Given the description of an element on the screen output the (x, y) to click on. 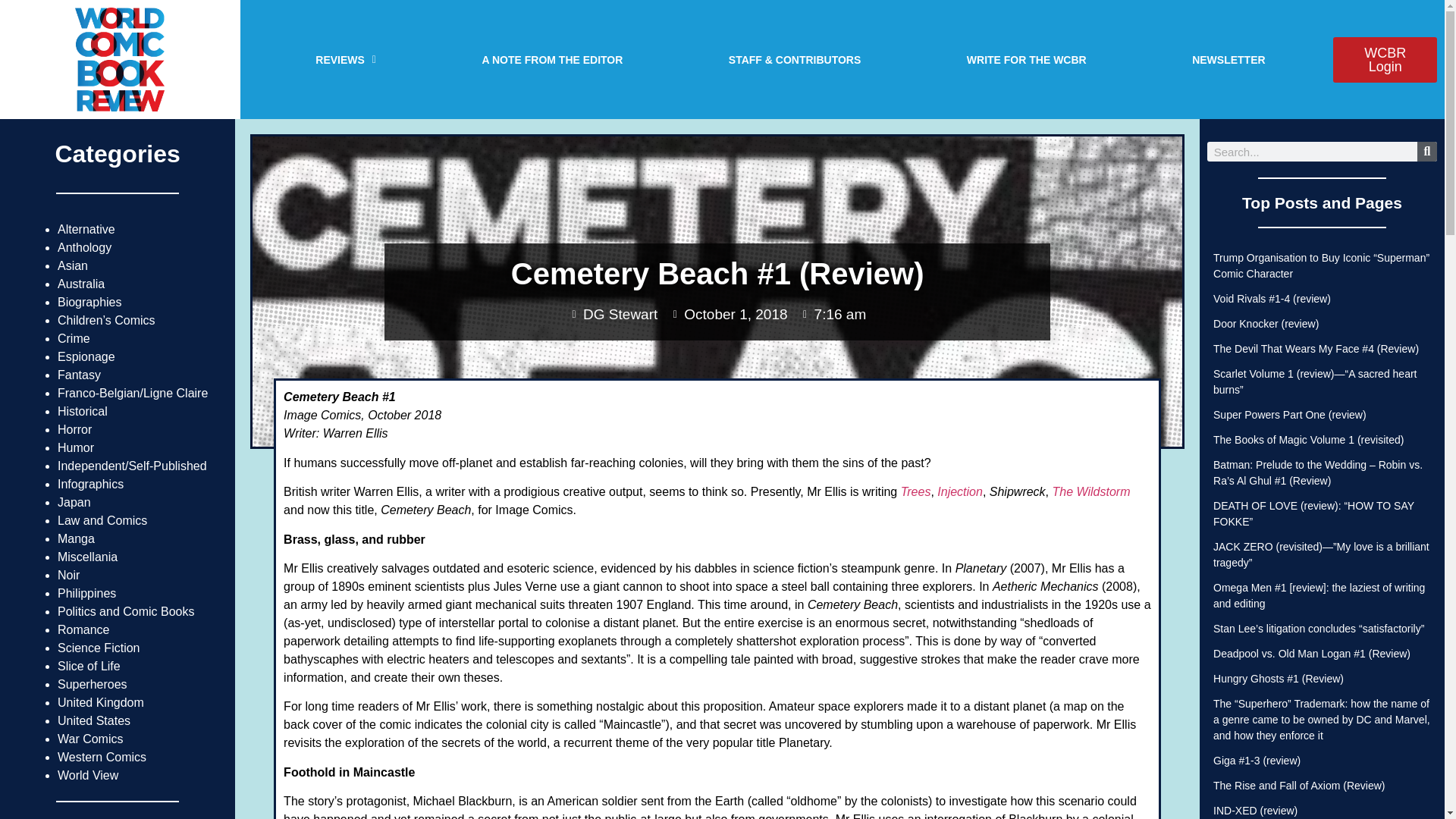
NEWSLETTER (1227, 59)
Espionage (86, 356)
Fantasy (79, 374)
Biographies (90, 301)
A NOTE FROM THE EDITOR (552, 59)
Historical (82, 410)
Anthology (85, 246)
REVIEWS (346, 59)
Alternative (86, 228)
Australia (81, 283)
